Given the description of an element on the screen output the (x, y) to click on. 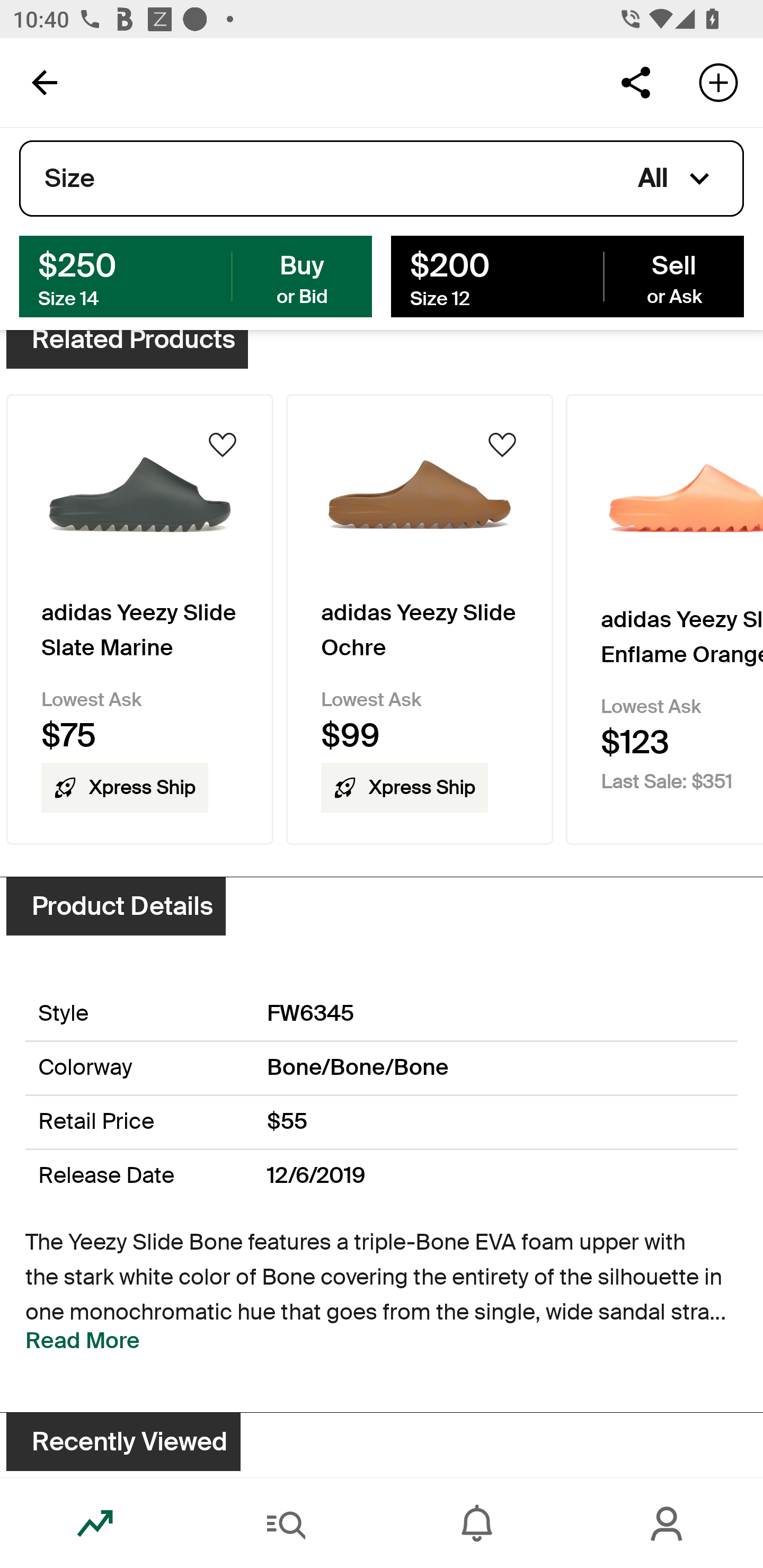
Share (635, 81)
Add (718, 81)
Size All (381, 178)
$250 Buy Size 14 or Bid (195, 275)
$200 Sell Size 12 or Ask (566, 275)
Read More (82, 1340)
Search (285, 1523)
Inbox (476, 1523)
Account (667, 1523)
